Given the description of an element on the screen output the (x, y) to click on. 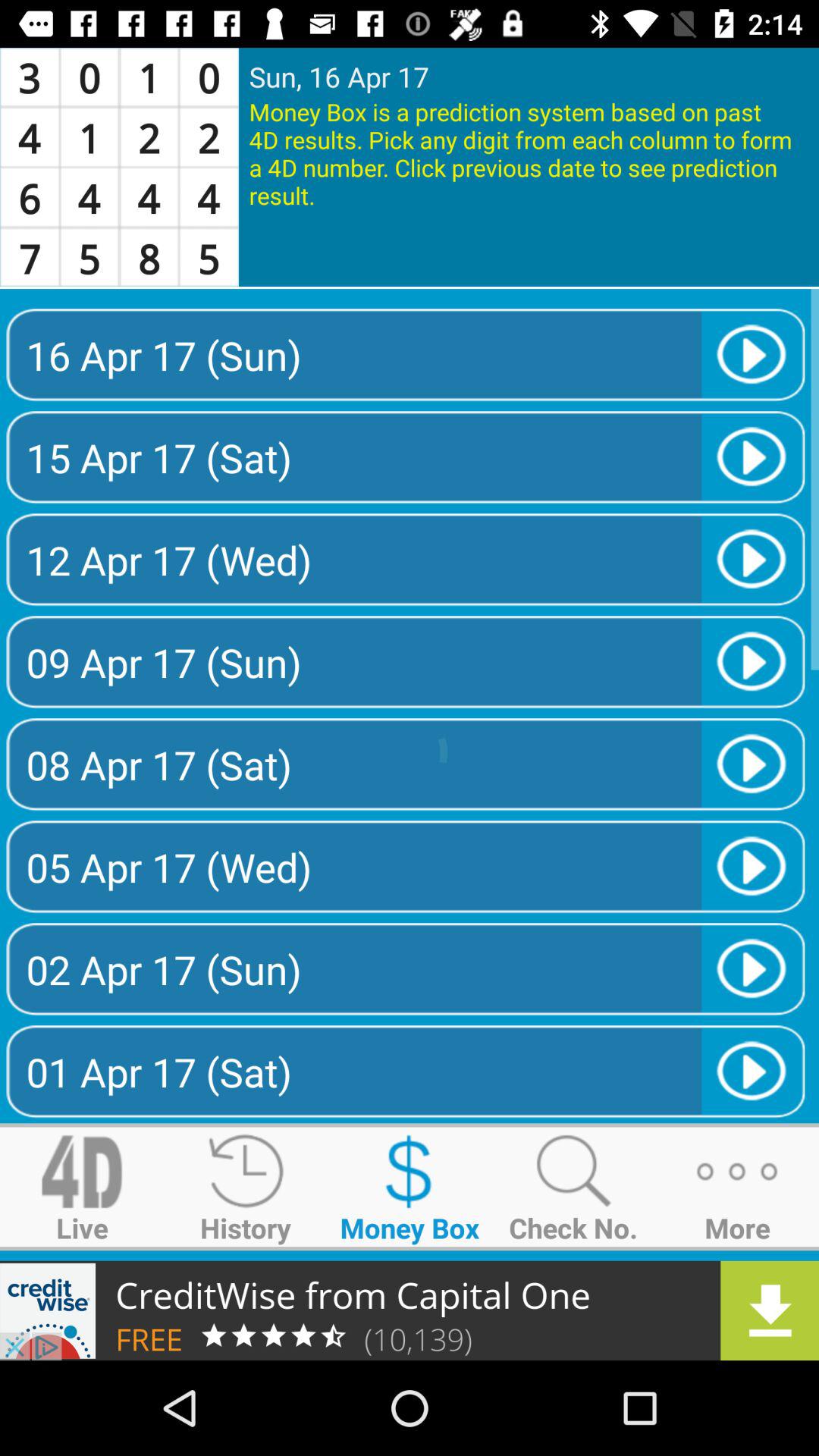
advertisement (409, 1310)
